Given the description of an element on the screen output the (x, y) to click on. 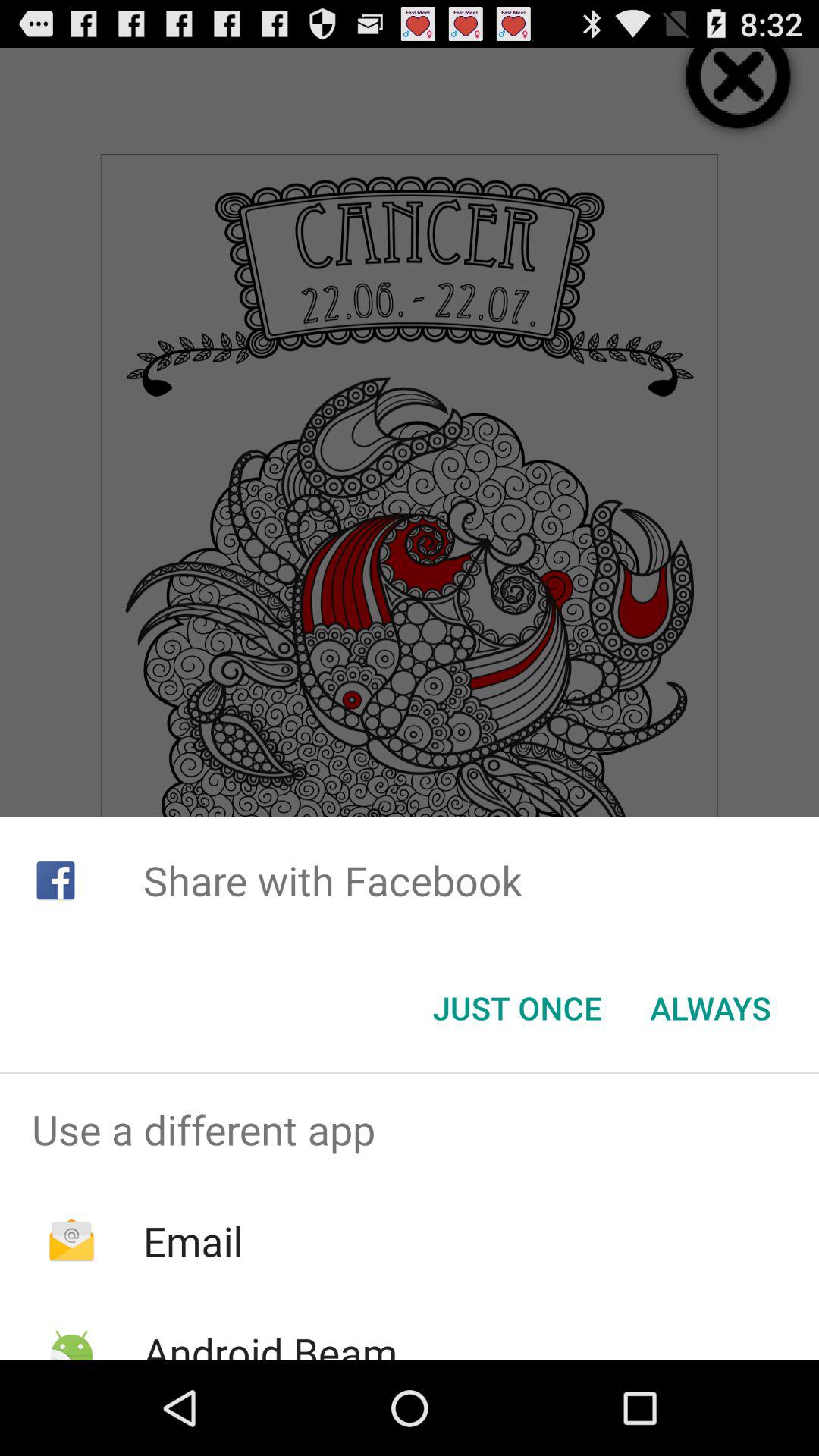
scroll until the use a different app (409, 1129)
